Given the description of an element on the screen output the (x, y) to click on. 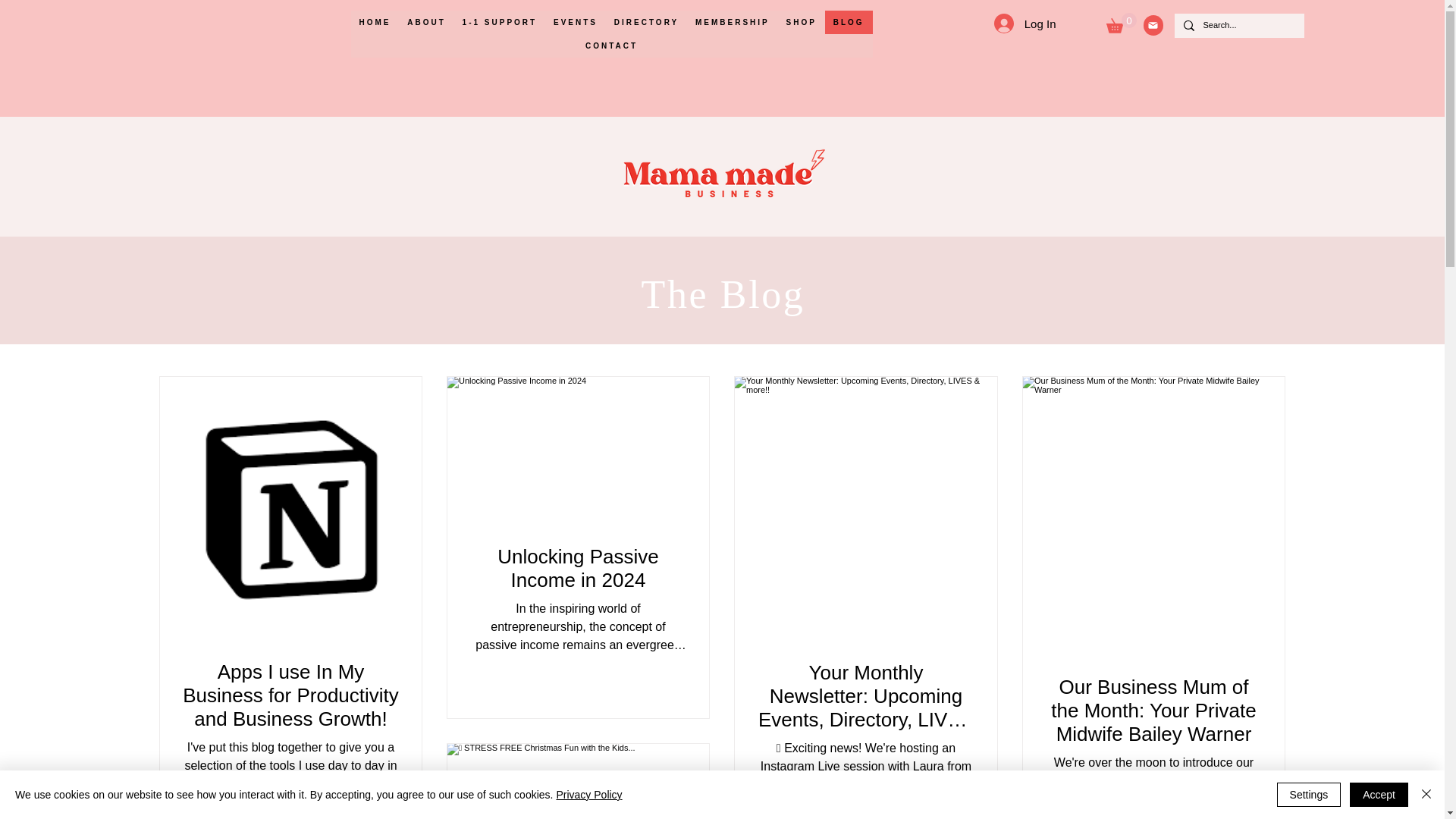
Accept (1378, 794)
Privacy Policy (588, 794)
SHOP (801, 22)
1-1 SUPPORT (499, 22)
BLOG (848, 22)
DIRECTORY (646, 22)
Log In (1025, 23)
EVENTS (574, 22)
ABOUT (425, 22)
0 (1120, 22)
Unlocking Passive Income in 2024 (577, 568)
CONTACT (611, 45)
0 (1120, 23)
HOME (374, 22)
